Given the description of an element on the screen output the (x, y) to click on. 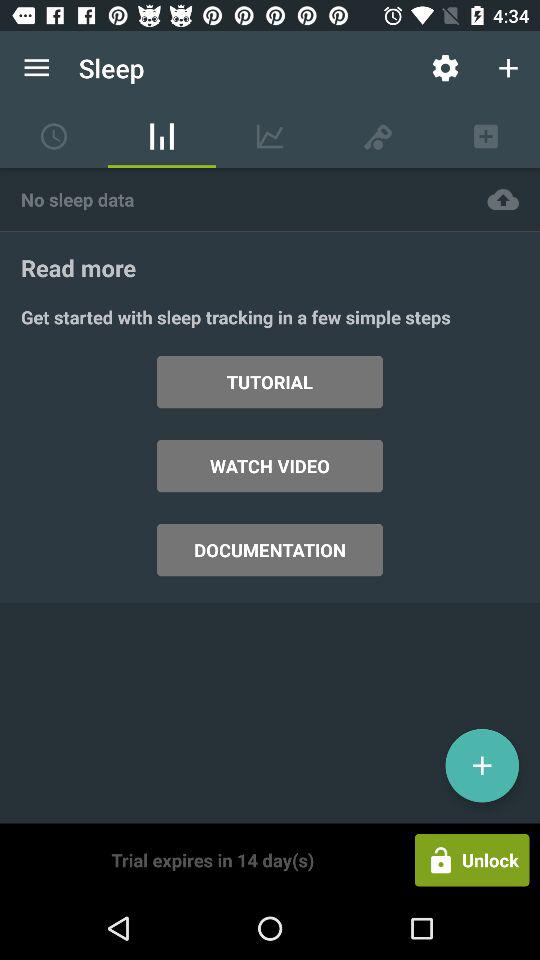
save cloud (503, 199)
